Given the description of an element on the screen output the (x, y) to click on. 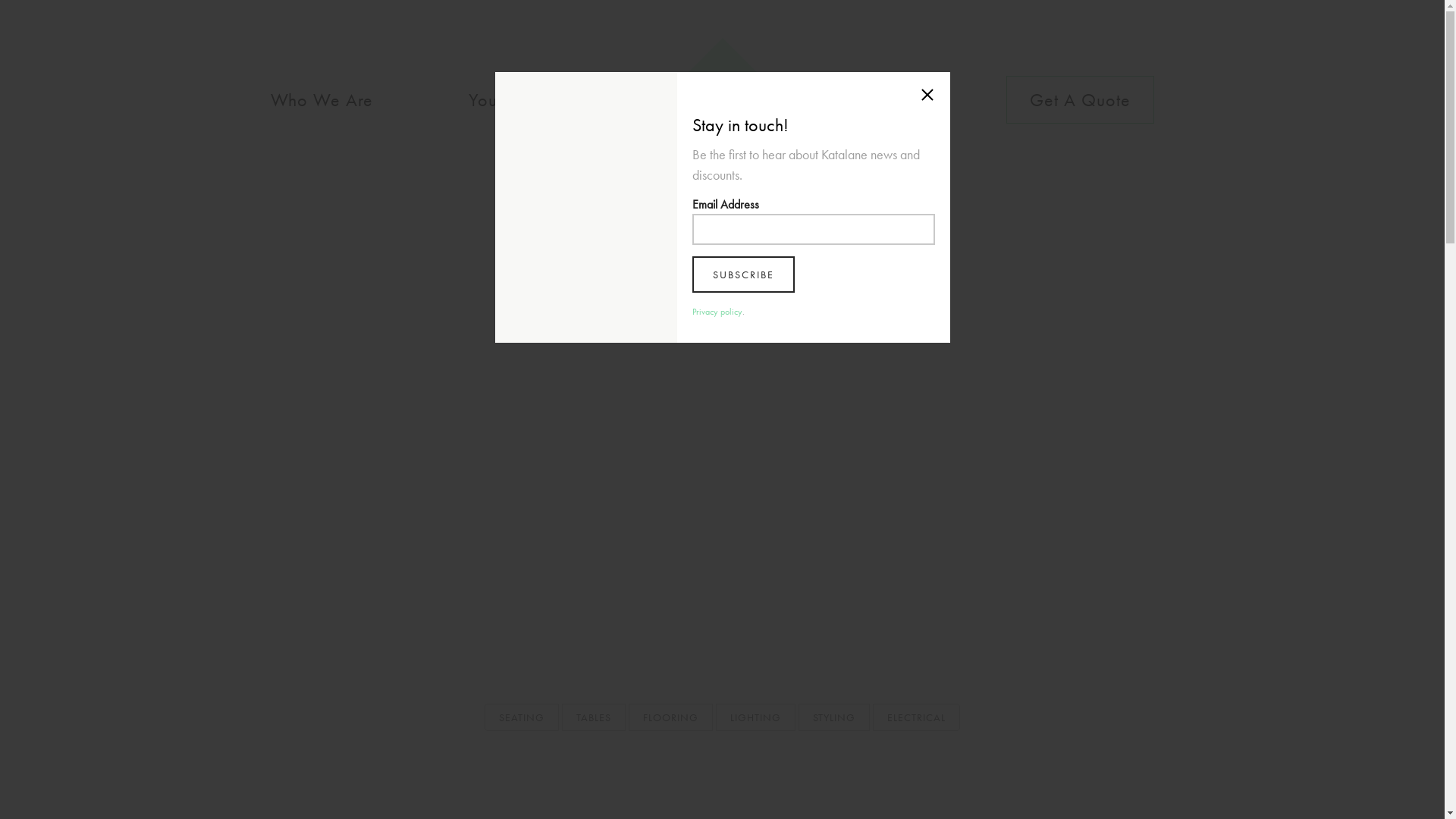
FLOORING Element type: text (670, 717)
Get A Quote Element type: text (1079, 99)
STYLING Element type: text (833, 717)
ELECTRICAL Element type: text (916, 717)
Subscribe Element type: text (742, 274)
TABLES Element type: text (593, 717)
LIGHTING Element type: text (755, 717)
Privacy policy Element type: text (716, 311)
SEATING Element type: text (521, 717)
Who We Are Element type: text (321, 99)
Blog Element type: text (915, 99)
Your Style Element type: text (507, 99)
